Given the description of an element on the screen output the (x, y) to click on. 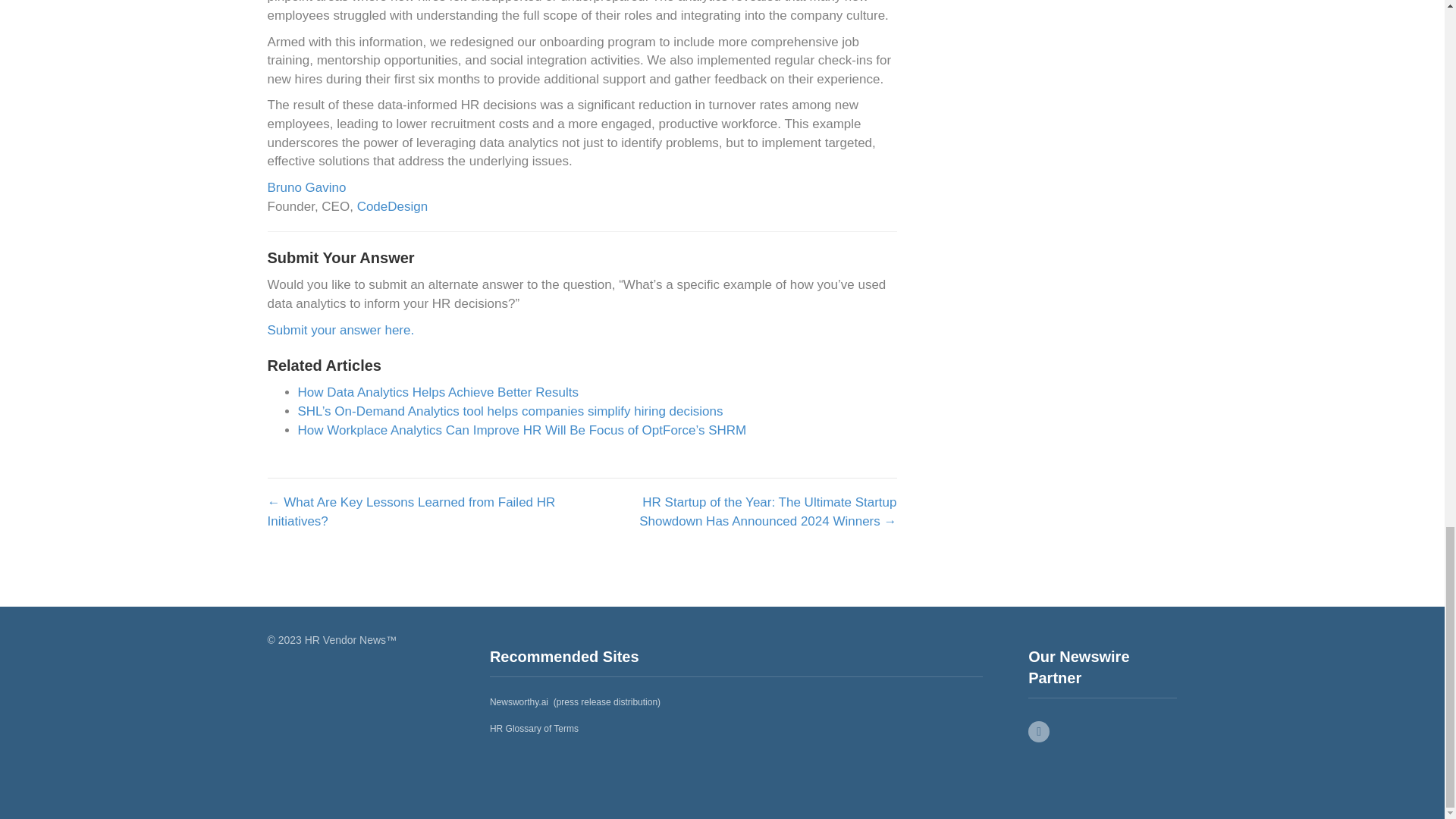
Submit your answer here. (339, 329)
CodeDesign (392, 206)
How Data Analytics Helps Achieve Better Results (437, 391)
Bruno Gavino (306, 187)
